Given the description of an element on the screen output the (x, y) to click on. 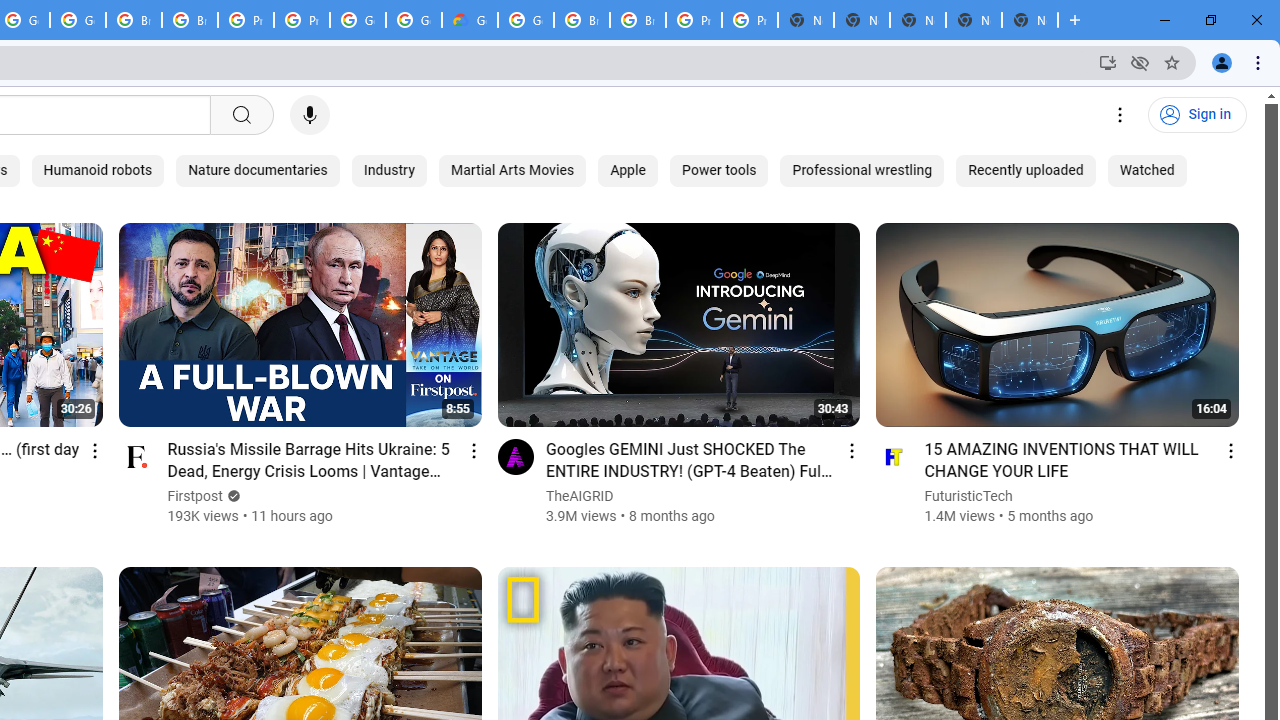
Watched (1146, 170)
Search with your voice (309, 115)
Google Cloud Platform (413, 20)
Browse Chrome as a guest - Computer - Google Chrome Help (134, 20)
Apple (628, 170)
Google Cloud Platform (525, 20)
